Given the description of an element on the screen output the (x, y) to click on. 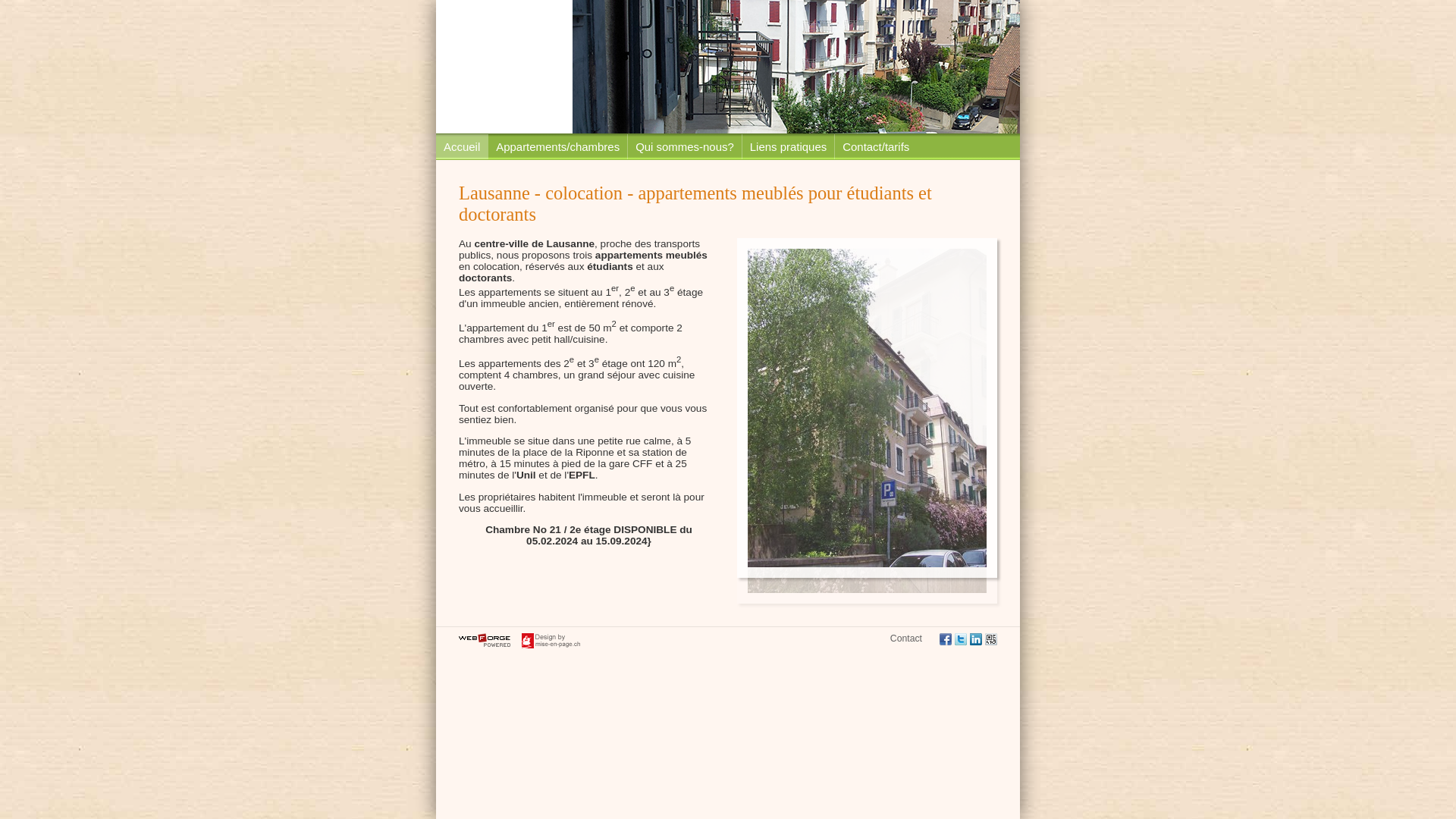
Appartements/chambres Element type: text (557, 146)
Liens pratiques Element type: text (787, 146)
Accueil Element type: text (461, 146)
Modifier son site internet avec WebForge Element type: hover (484, 640)
Afficher le QR-Code Element type: hover (991, 640)
Partager sur Facebook Element type: hover (945, 640)
Contact/tarifs Element type: text (875, 146)
Partager sur Twitter Element type: hover (960, 640)
Qui sommes-nous? Element type: text (684, 146)
Contact Element type: text (906, 638)
Partager sur LinkedIn Element type: hover (975, 640)
